Given the description of an element on the screen output the (x, y) to click on. 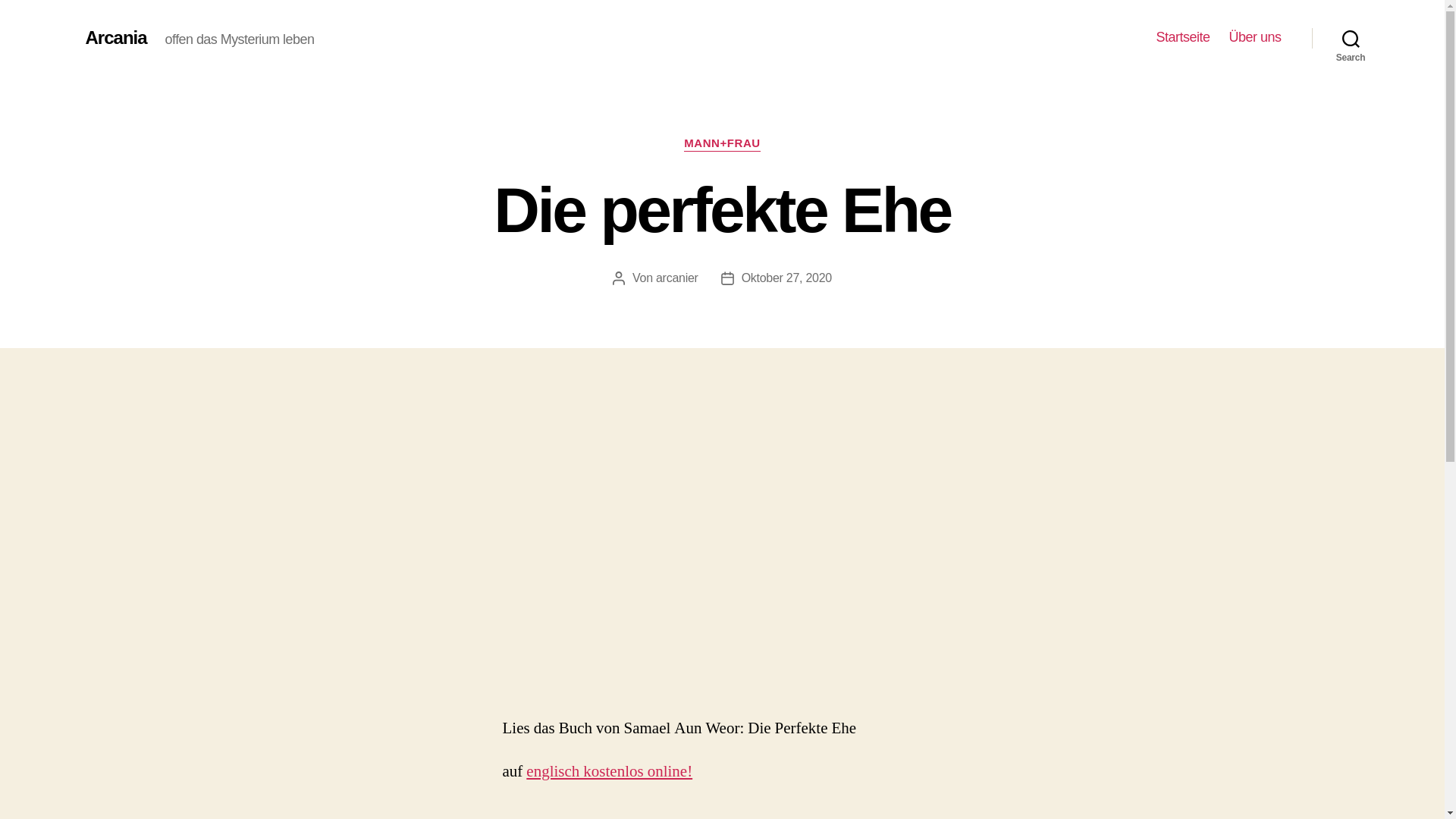
Search Element type: text (1350, 37)
arcanier Element type: text (676, 277)
englisch kostenlos online! Element type: text (609, 771)
Oktober 27, 2020 Element type: text (786, 277)
Startseite Element type: text (1182, 37)
MANN+FRAU Element type: text (721, 143)
Arcania Element type: text (115, 37)
